Given the description of an element on the screen output the (x, y) to click on. 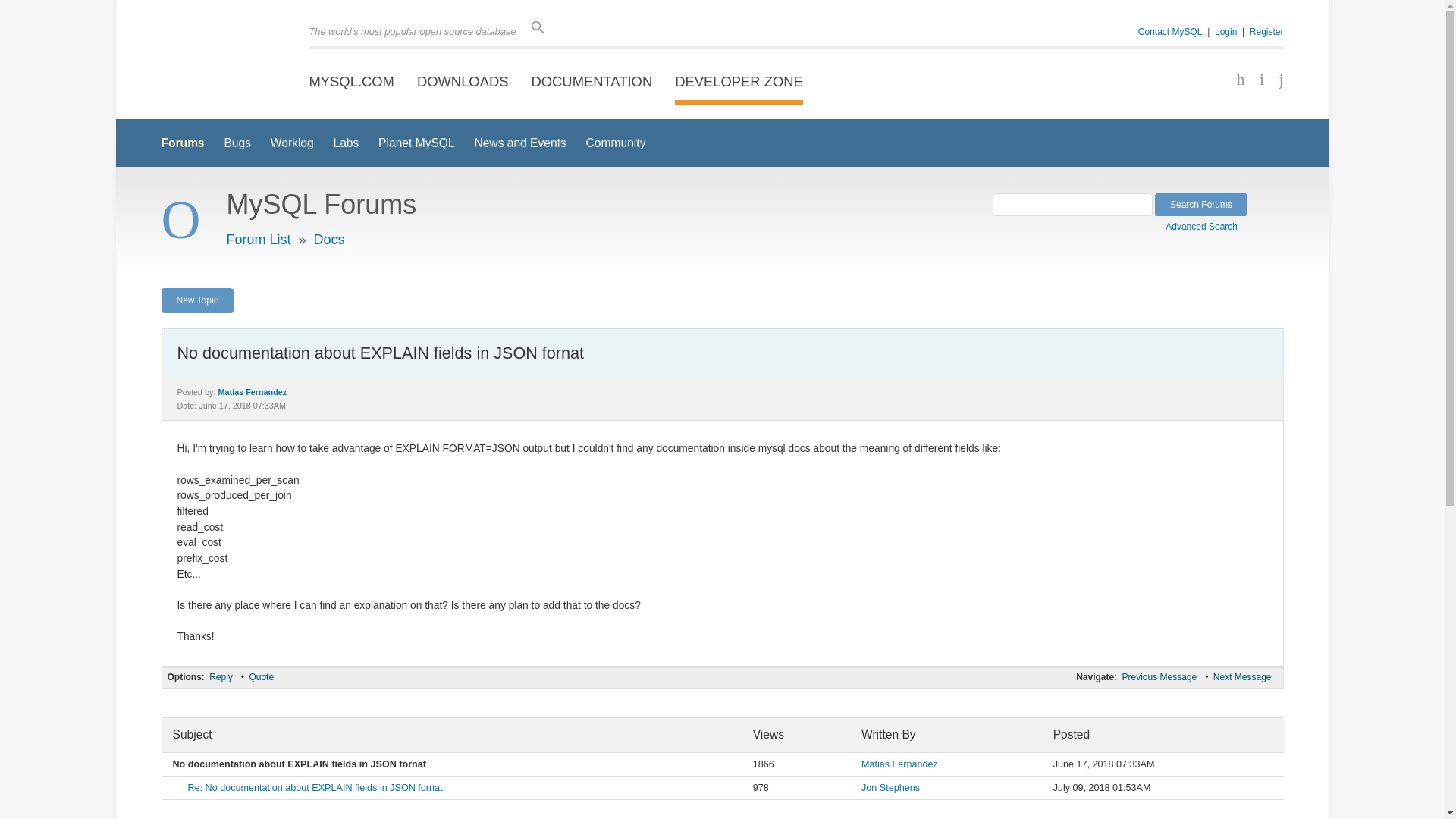
Previous Message (1159, 676)
Search Forums (1200, 204)
Matias Fernandez (899, 764)
Docs (329, 239)
Visit our YouTube channel (1276, 80)
News and Events (520, 142)
Contact MySQL (1170, 31)
MYSQL.COM (351, 81)
Reply (220, 676)
Login (1225, 31)
